Given the description of an element on the screen output the (x, y) to click on. 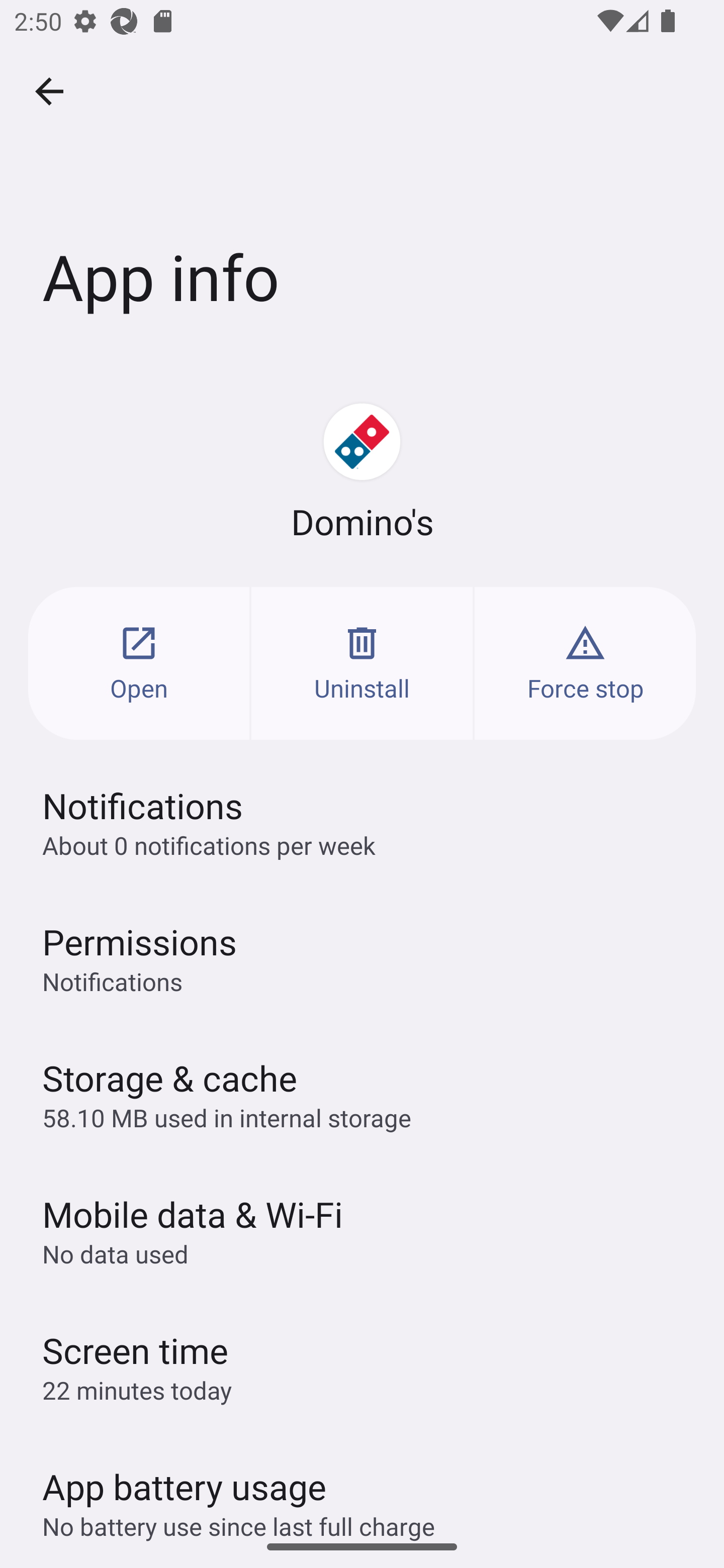
Navigate up (49, 91)
Open (138, 663)
Uninstall (361, 663)
Force stop (584, 663)
Notifications About 0 notifications per week (362, 822)
Permissions Notifications (362, 957)
Storage & cache 58.10 MB used in internal storage (362, 1093)
Mobile data & Wi‑Fi No data used (362, 1229)
Screen time 22 minutes today (362, 1366)
